Given the description of an element on the screen output the (x, y) to click on. 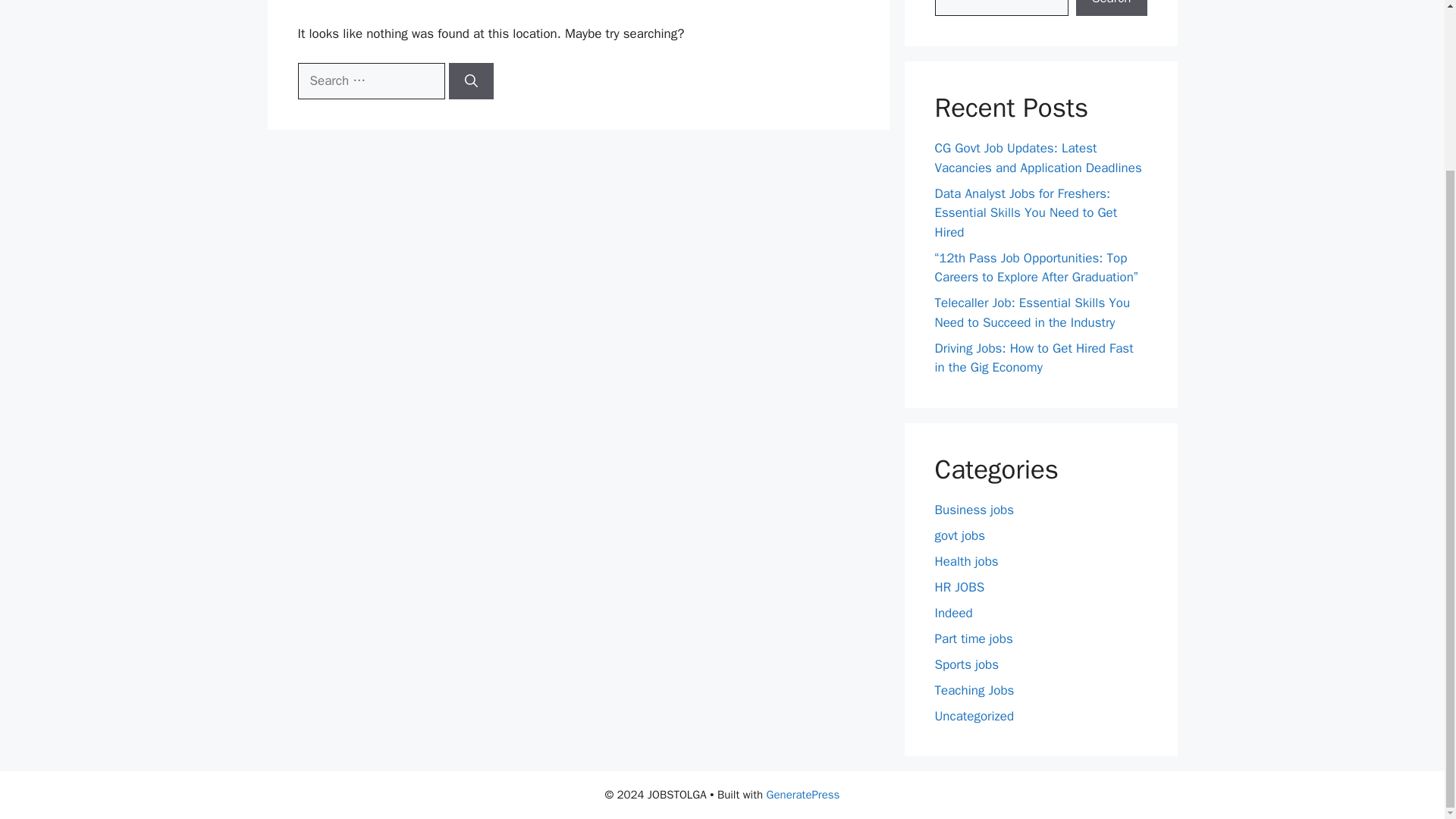
Health jobs (965, 561)
GeneratePress (803, 794)
Indeed (953, 612)
HR JOBS (959, 587)
Sports jobs (966, 664)
govt jobs (959, 535)
Search for: (370, 81)
Business jobs (973, 509)
